Given the description of an element on the screen output the (x, y) to click on. 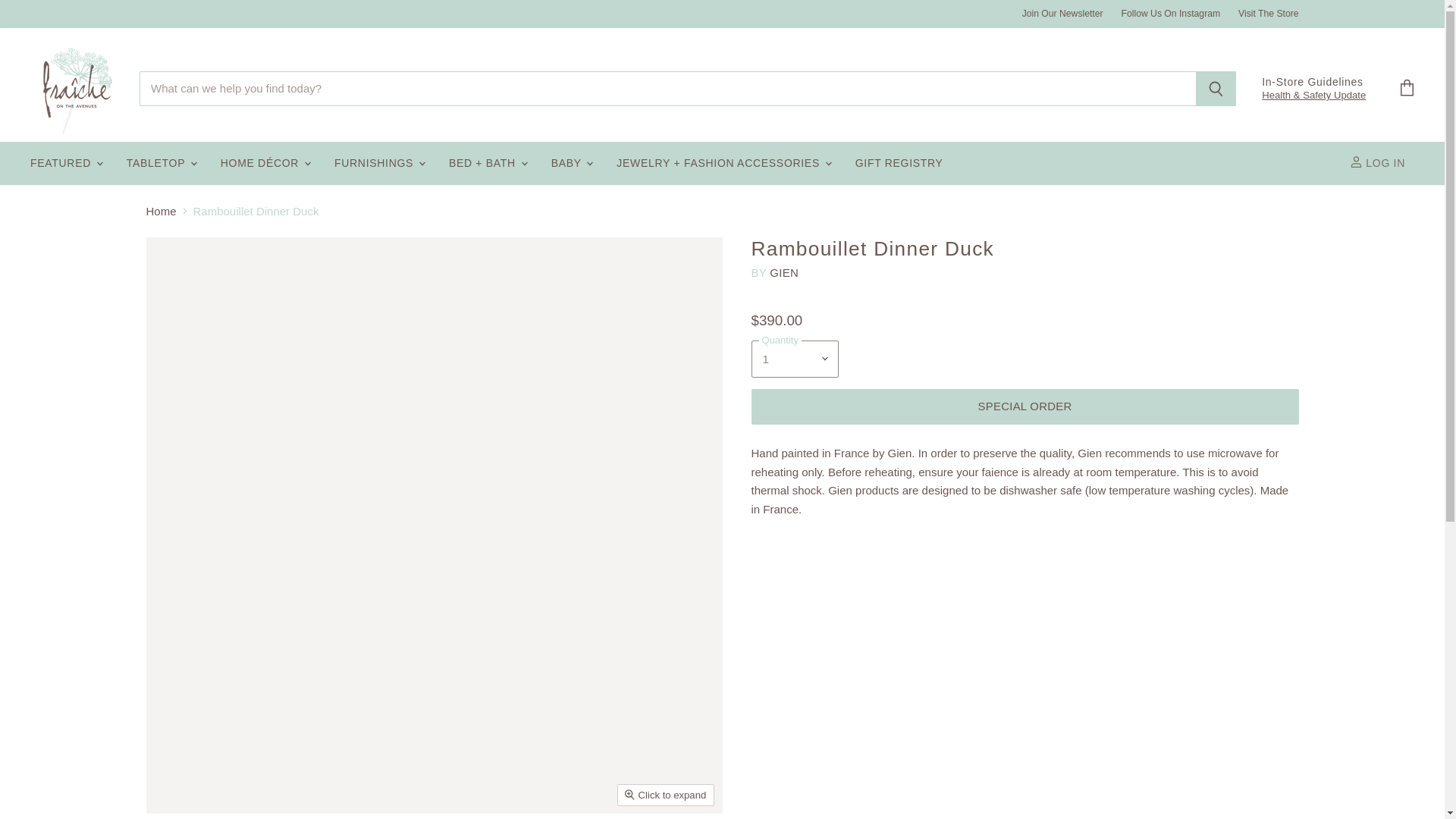
Visit The Store (1268, 13)
Follow Us On Instagram (1171, 13)
ACCOUNT ICON (1355, 161)
TABLETOP (160, 163)
Join Our Newsletter (1062, 13)
Gien (783, 272)
FEATURED (65, 163)
